Given the description of an element on the screen output the (x, y) to click on. 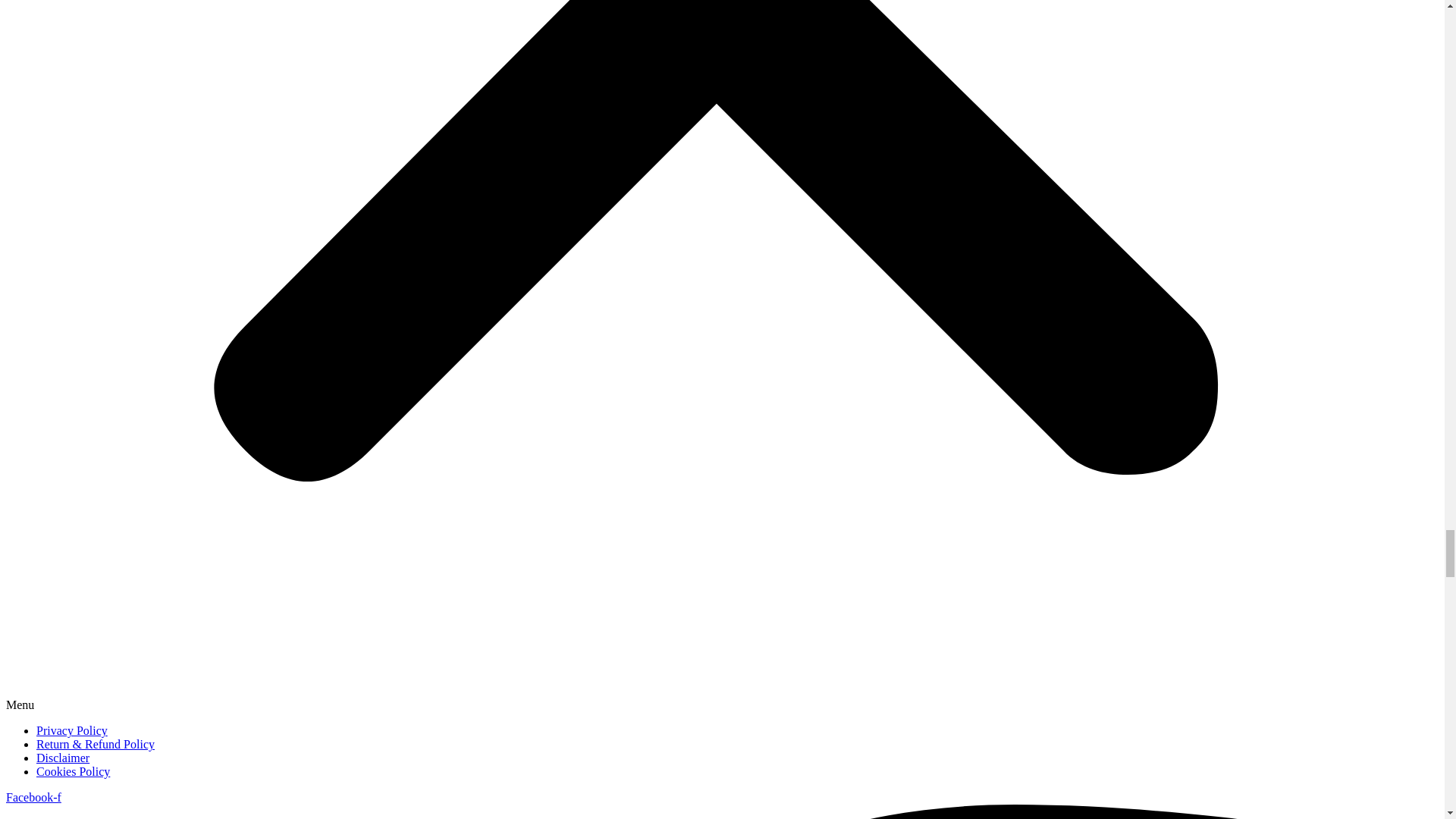
Cookies Policy (73, 771)
Privacy Policy (71, 730)
Disclaimer (62, 757)
